Given the description of an element on the screen output the (x, y) to click on. 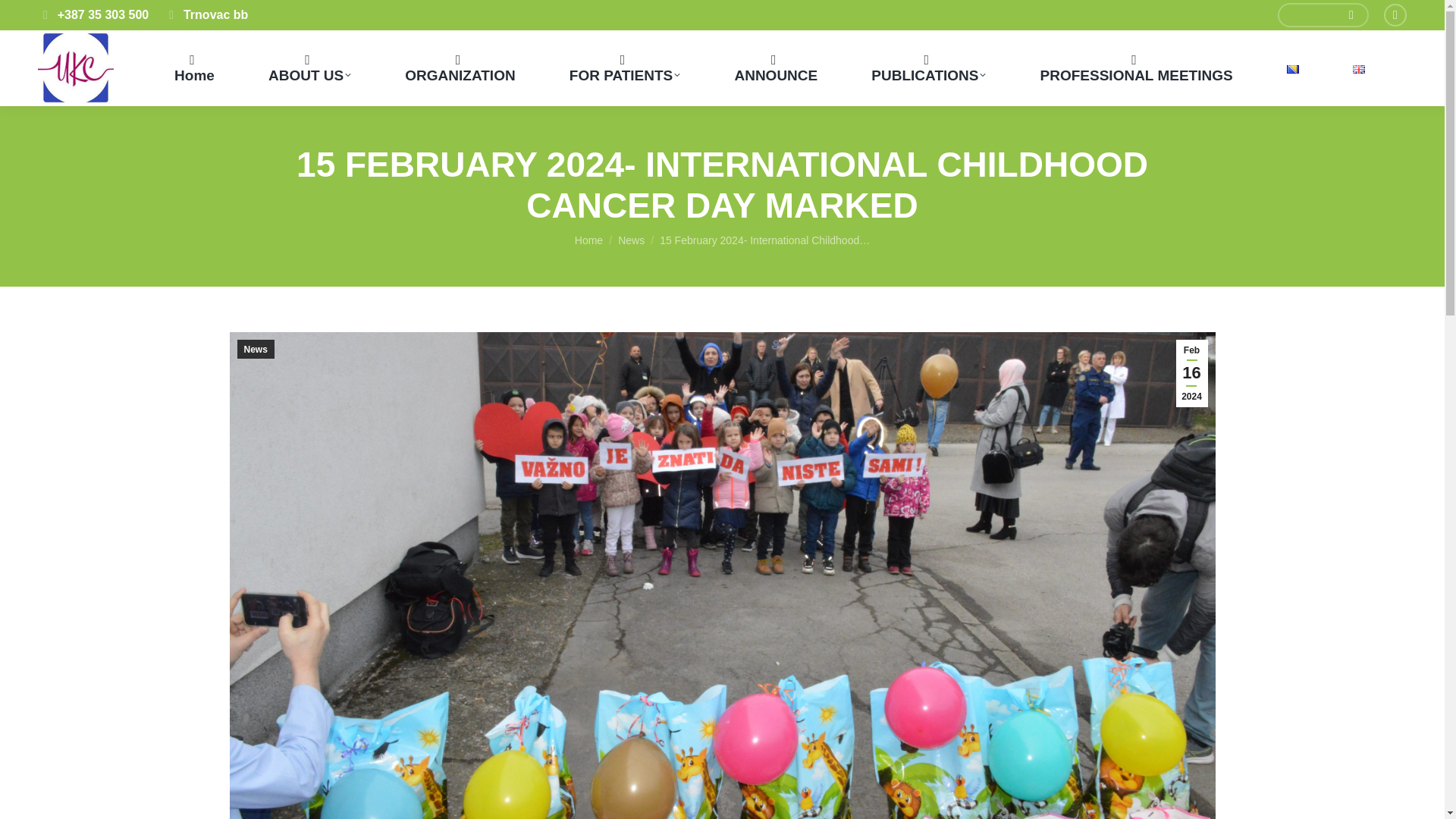
Go! (32, 18)
PUBLICATIONS (927, 68)
News (631, 240)
Home (194, 68)
ORGANIZATION (459, 68)
Home (588, 240)
ANNOUNCE (775, 68)
Mail page opens in new window (1395, 15)
ABOUT US (309, 68)
PROFESSIONAL MEETINGS (1136, 68)
Search form (1323, 15)
Mail page opens in new window (1395, 15)
FOR PATIENTS (625, 68)
